Given the description of an element on the screen output the (x, y) to click on. 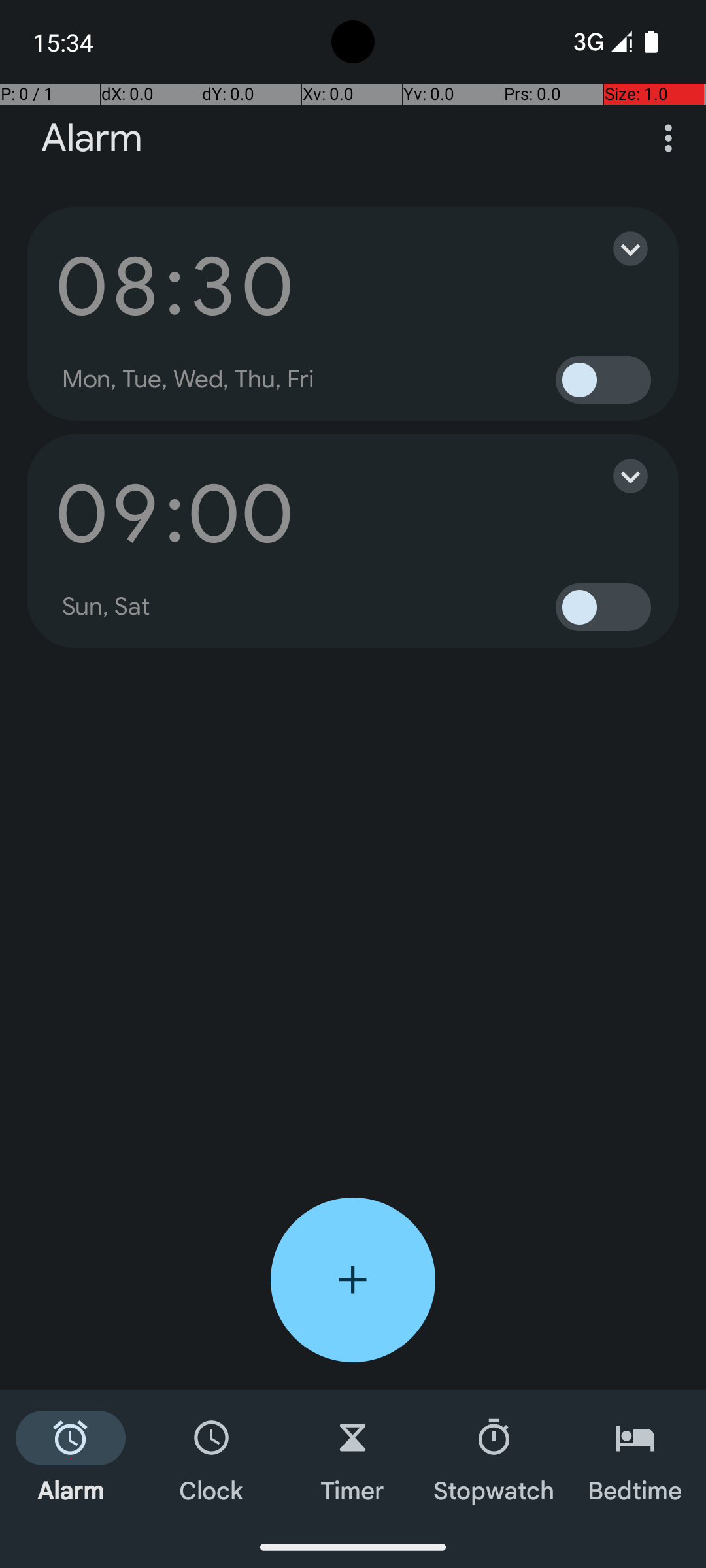
Add alarm Element type: android.widget.Button (352, 1279)
08:30 Element type: android.widget.TextView (174, 286)
Expand alarm Element type: android.widget.ImageButton (616, 248)
Mon, Tue, Wed, Thu, Fri Element type: android.widget.TextView (187, 379)
09:00 Element type: android.widget.TextView (174, 513)
Sun, Sat Element type: android.widget.TextView (106, 606)
